Given the description of an element on the screen output the (x, y) to click on. 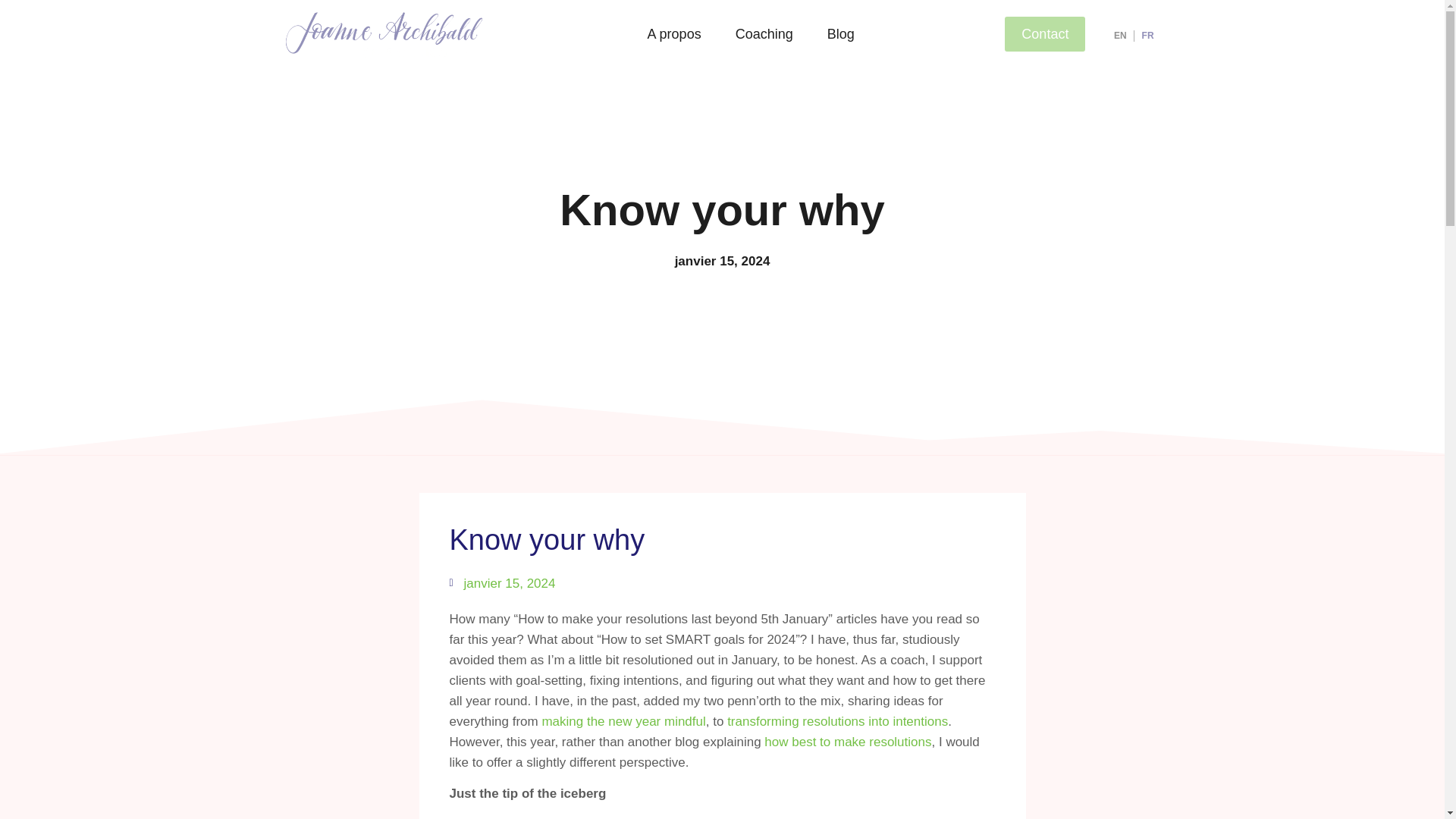
making the new year mindful (622, 721)
A propos (673, 34)
how best to make resolutions (847, 741)
FR (1147, 35)
Coaching (764, 34)
transforming resolutions into intentions (836, 721)
Contact (1044, 33)
janvier 15, 2024 (501, 583)
EN (1120, 35)
Blog (840, 34)
